Given the description of an element on the screen output the (x, y) to click on. 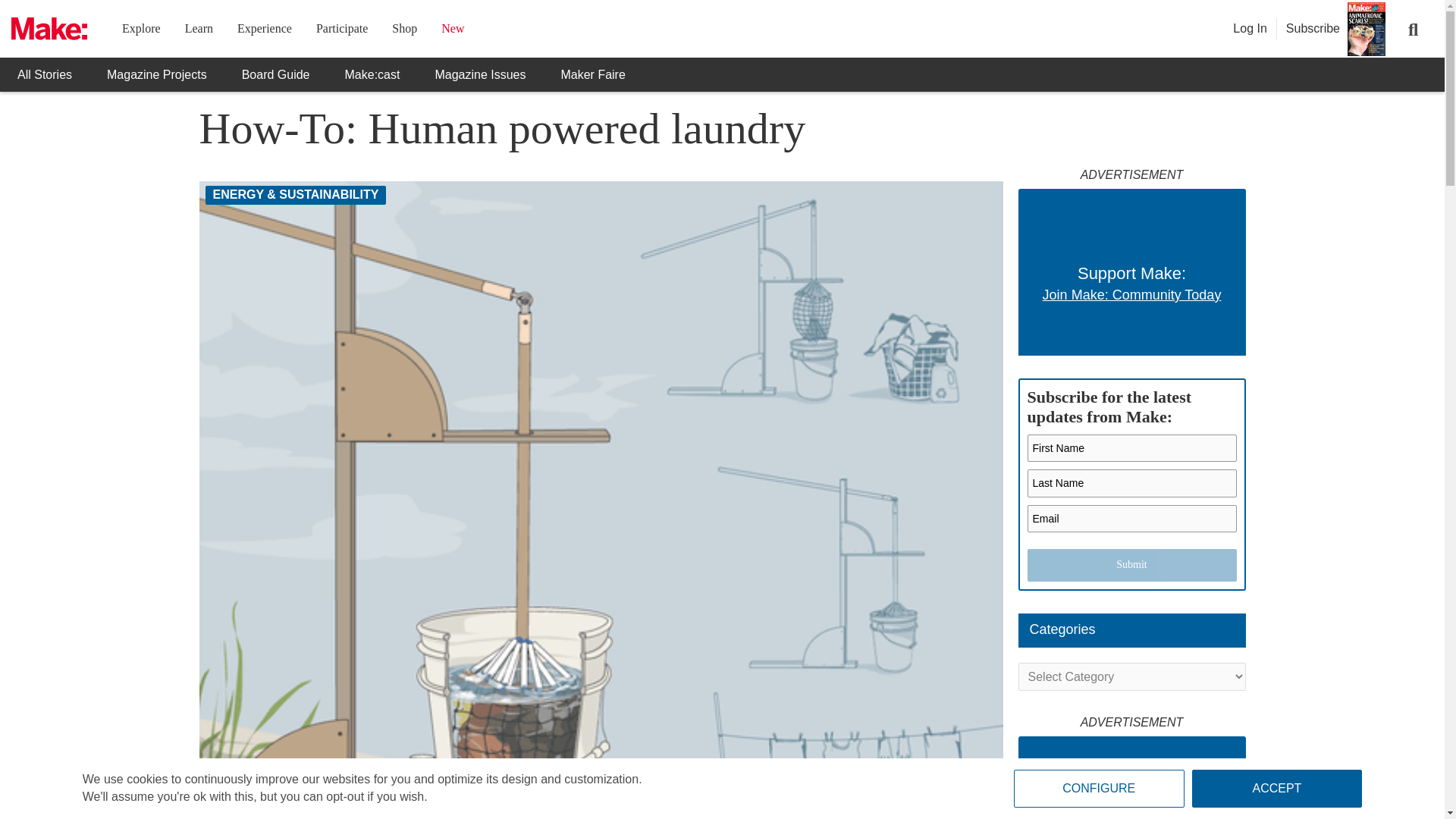
Learn (198, 28)
Board Guide (275, 74)
Log In (1249, 28)
Magazine Projects (156, 74)
Explore (141, 28)
Magazine Issues (479, 74)
Maker Faire (592, 74)
Experience (264, 28)
Make:cast (372, 74)
All Stories (44, 74)
